Given the description of an element on the screen output the (x, y) to click on. 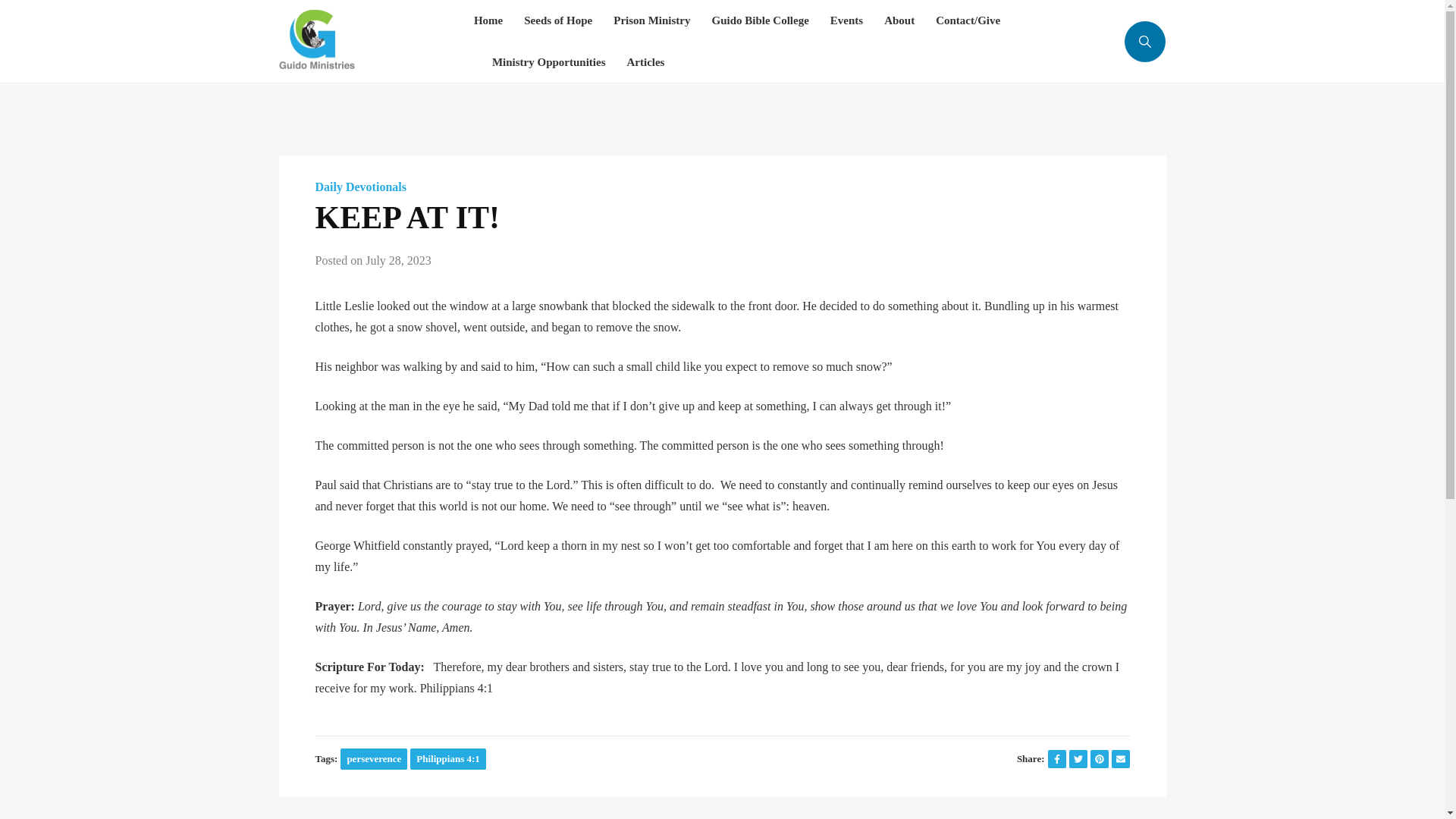
Search (1111, 120)
perseverence (373, 758)
Articles (644, 61)
Daily Devotionals (360, 186)
Philippians 4:1 (447, 758)
Seeds of Hope (558, 20)
Prison Ministry (651, 20)
Guido Bible College (759, 20)
Ministry Opportunities (548, 61)
